Given the description of an element on the screen output the (x, y) to click on. 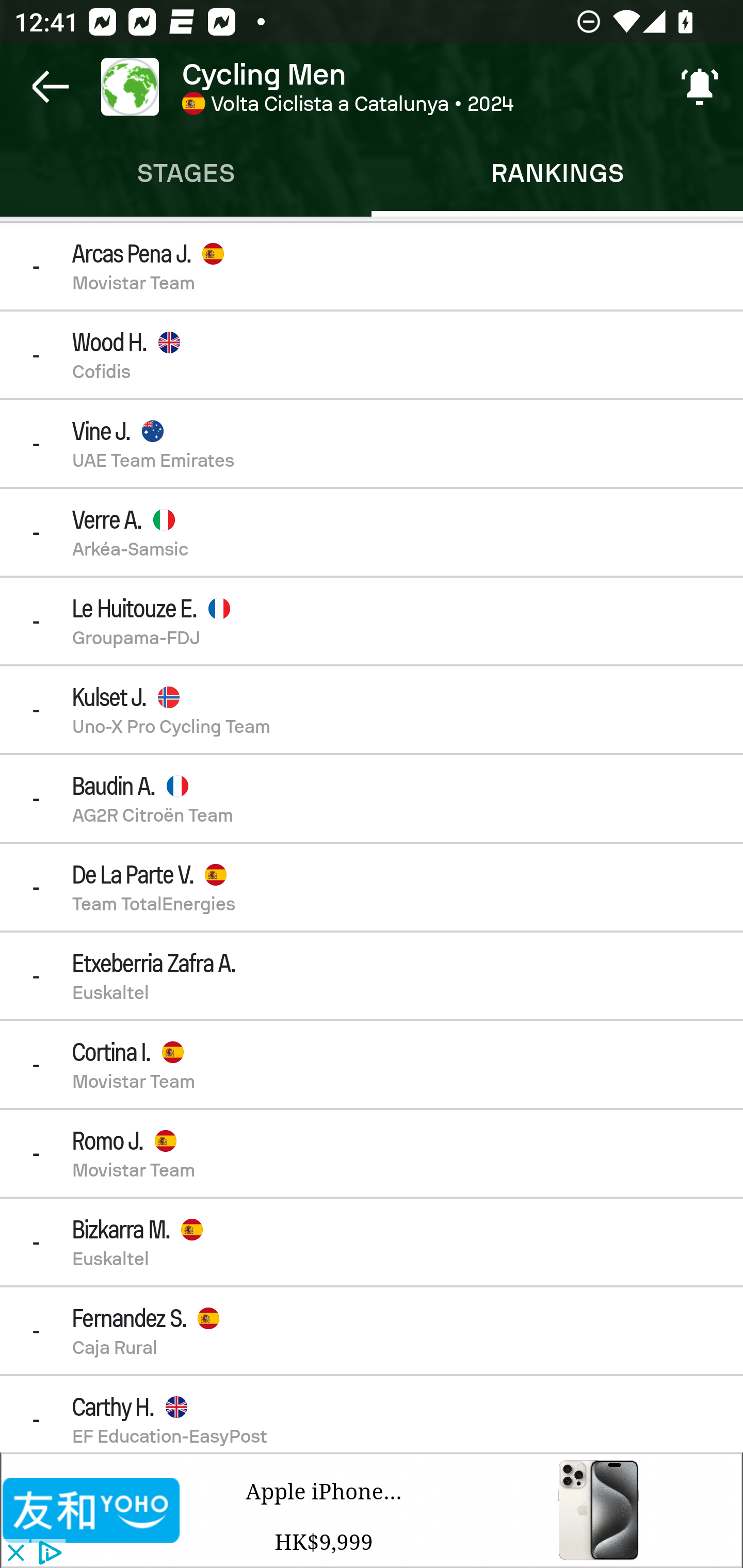
Navigate up (50, 86)
Stages STAGES (185, 173)
- Arcas Pena J. Movistar Team (371, 265)
- Wood H. Cofidis (371, 355)
- Vine J. UAE Team Emirates (371, 443)
- Verre A. Arkéa-Samsic (371, 532)
- Le Huitouze E. Groupama-FDJ (371, 620)
- Kulset J. Uno-X Pro Cycling Team (371, 709)
- Baudin A. AG2R Citroën Team (371, 798)
- De La Parte V. Team TotalEnergies (371, 886)
- Etxeberria Zafra A. Euskaltel (371, 975)
- Cortina I. Movistar Team (371, 1064)
- Romo J. Movistar Team (371, 1153)
- Bizkarra M. Euskaltel (371, 1241)
- Fernandez S. Caja Rural (371, 1330)
- Carthy H. EF Education-EasyPost (371, 1413)
   (91, 1509)
 Apple iPhone… HK$9,999  Apple iPhone…    HK$9,999 (461, 1510)
close_button (14, 1553)
privacy_small (47, 1553)
